Given the description of an element on the screen output the (x, y) to click on. 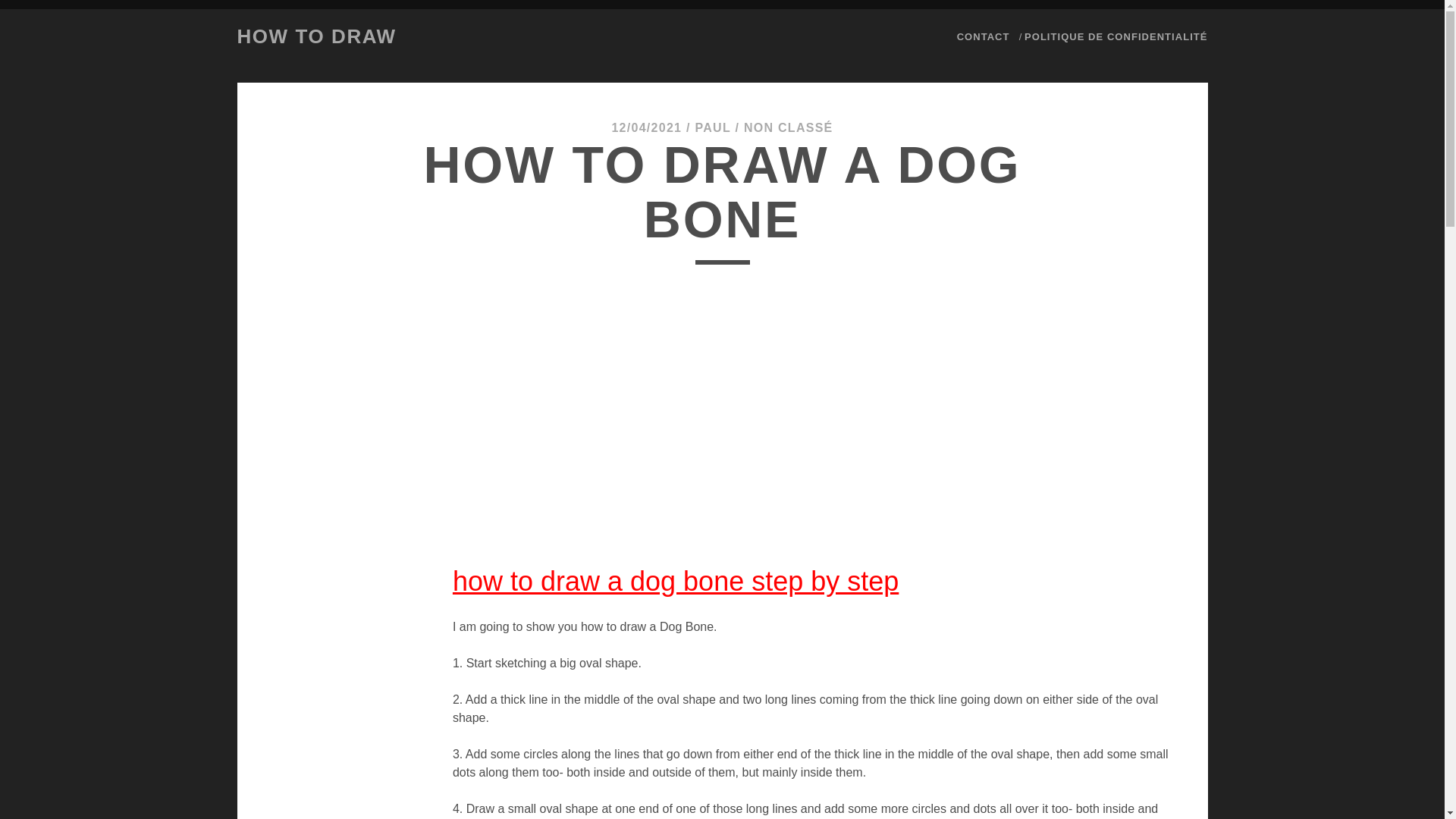
Posts by Paul (712, 127)
how to draw a dog bone step by step (675, 581)
HOW TO DRAW (315, 36)
PAUL (712, 127)
CONTACT (983, 36)
